Given the description of an element on the screen output the (x, y) to click on. 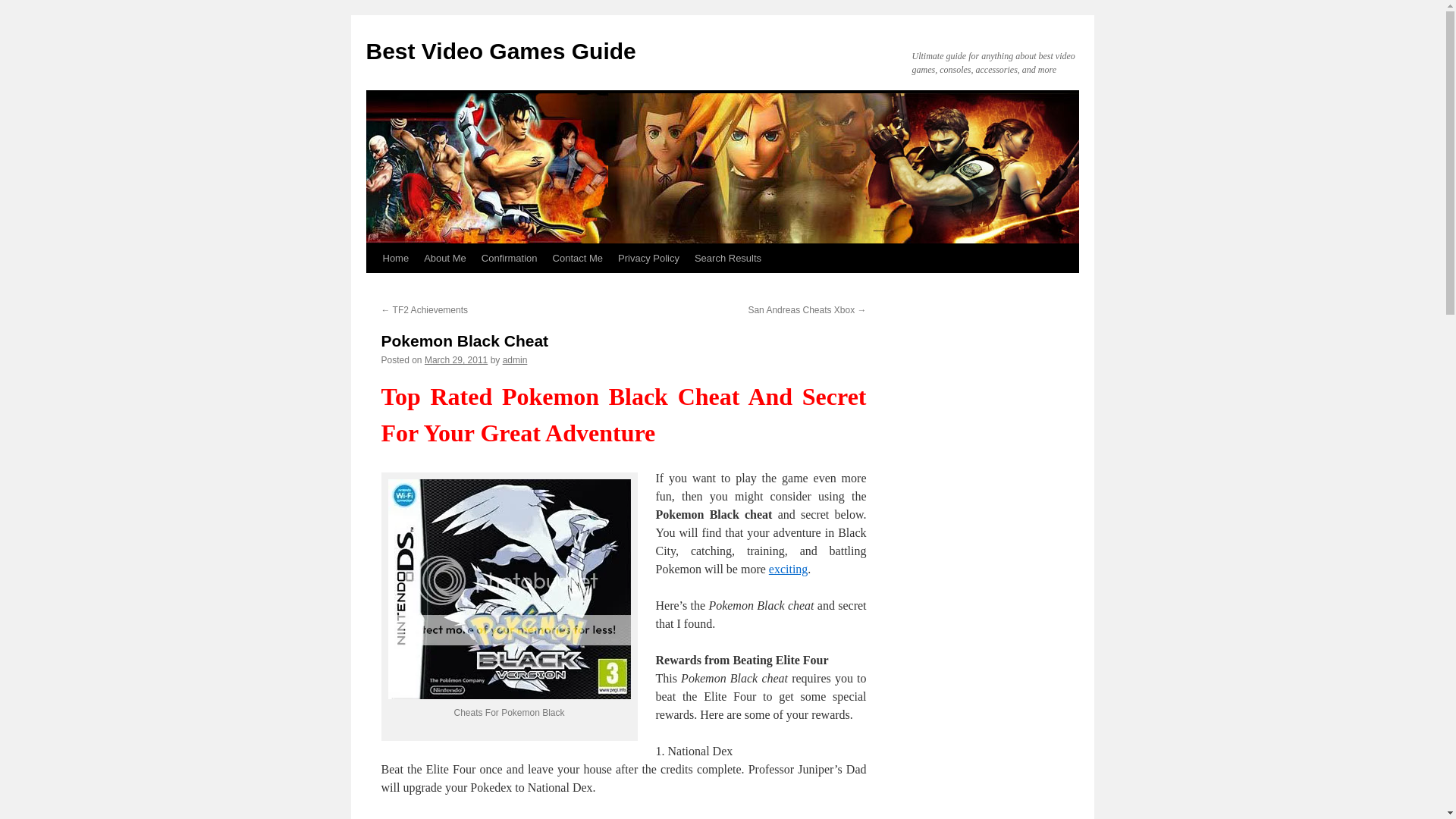
Home (395, 258)
About Me (445, 258)
admin (514, 359)
View all posts by admin (514, 359)
Search Results (727, 258)
Contact Me (577, 258)
16:35 (456, 359)
Privacy Policy (648, 258)
Confirmation (509, 258)
Best Video Games Guide (499, 50)
